Given the description of an element on the screen output the (x, y) to click on. 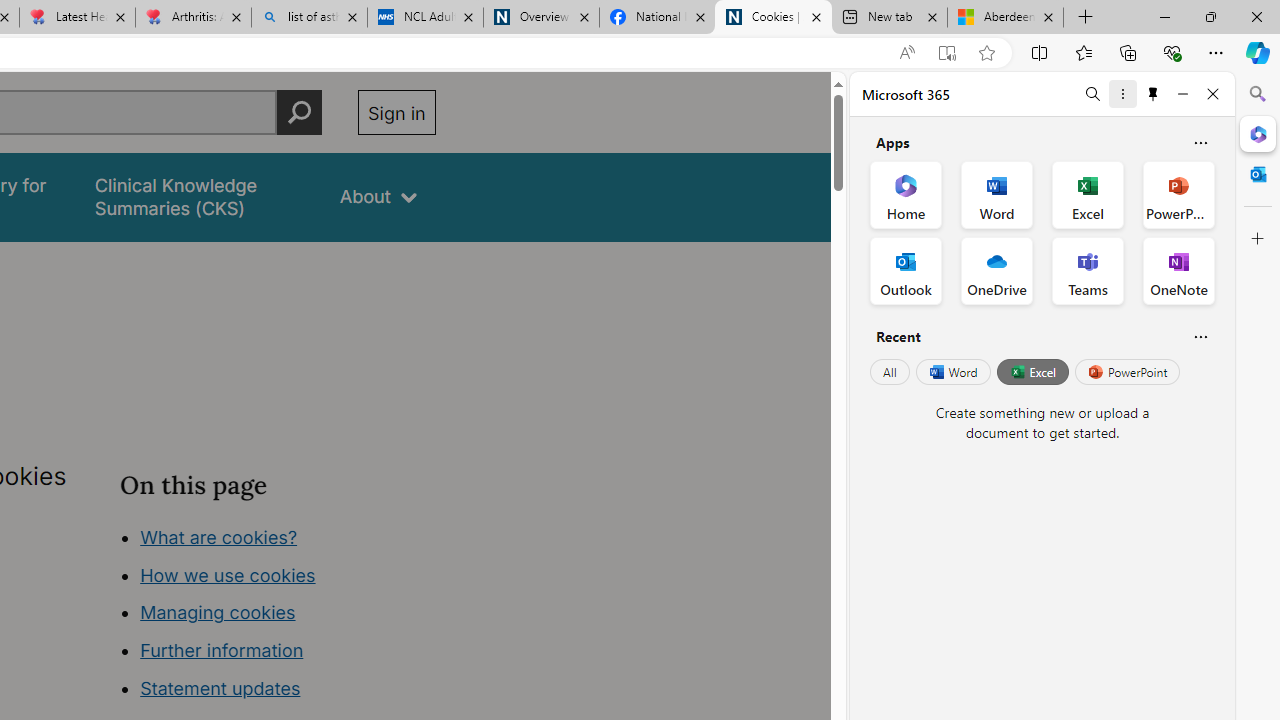
Perform search (299, 112)
Home Office App (906, 194)
Outlook Office App (906, 270)
Managing cookies (217, 612)
Word Office App (996, 194)
All (890, 372)
OneDrive Office App (996, 270)
